Given the description of an element on the screen output the (x, y) to click on. 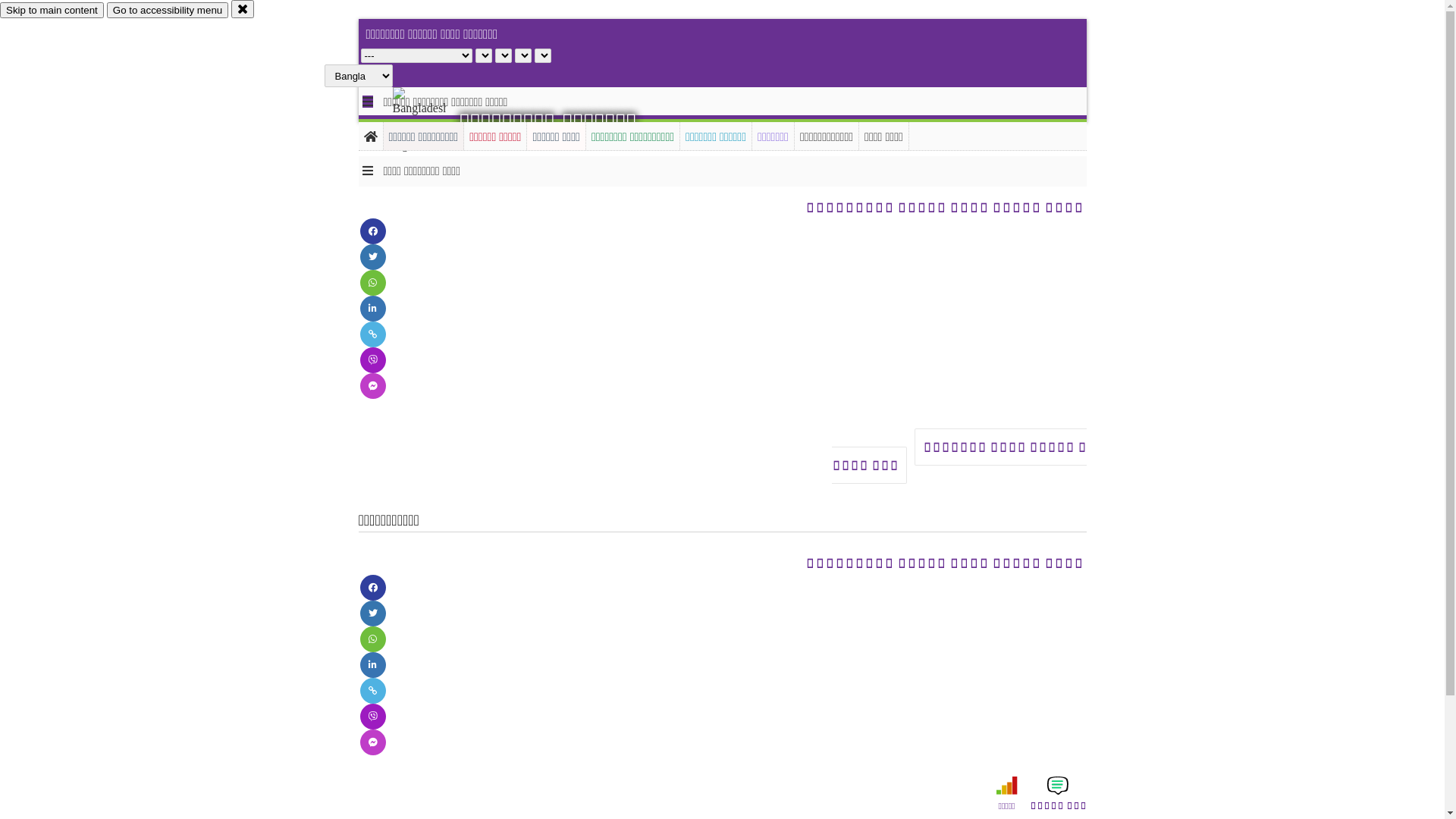
Skip to main content Element type: text (51, 10)
close Element type: hover (242, 9)
Go to accessibility menu Element type: text (167, 10)

                
             Element type: hover (431, 120)
